Given the description of an element on the screen output the (x, y) to click on. 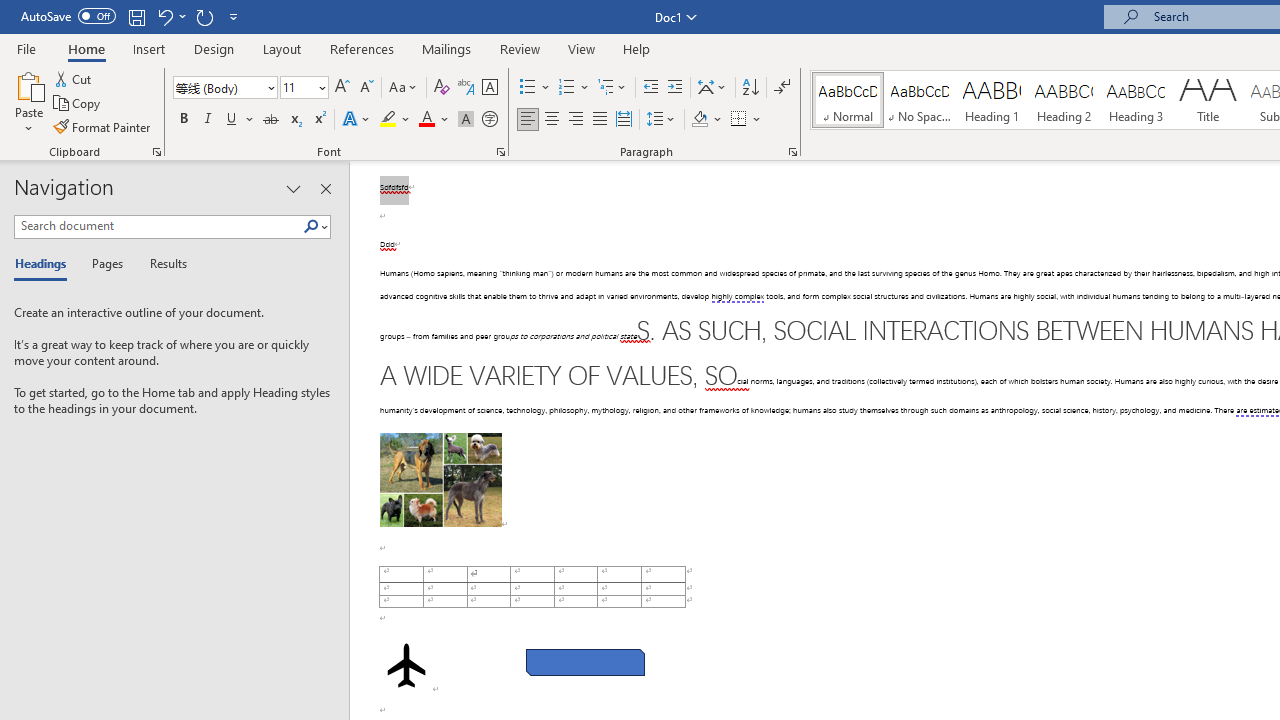
Change Case (404, 87)
Italic (207, 119)
Class: NetUIImage (311, 226)
Heading 3 (1135, 100)
Grow Font (342, 87)
Design (214, 48)
Close pane (325, 188)
Character Border (489, 87)
AutoSave (68, 16)
Search (311, 227)
Task Pane Options (293, 188)
Format Painter (103, 126)
Search document (157, 226)
Center (552, 119)
Enclose Characters... (489, 119)
